Given the description of an element on the screen output the (x, y) to click on. 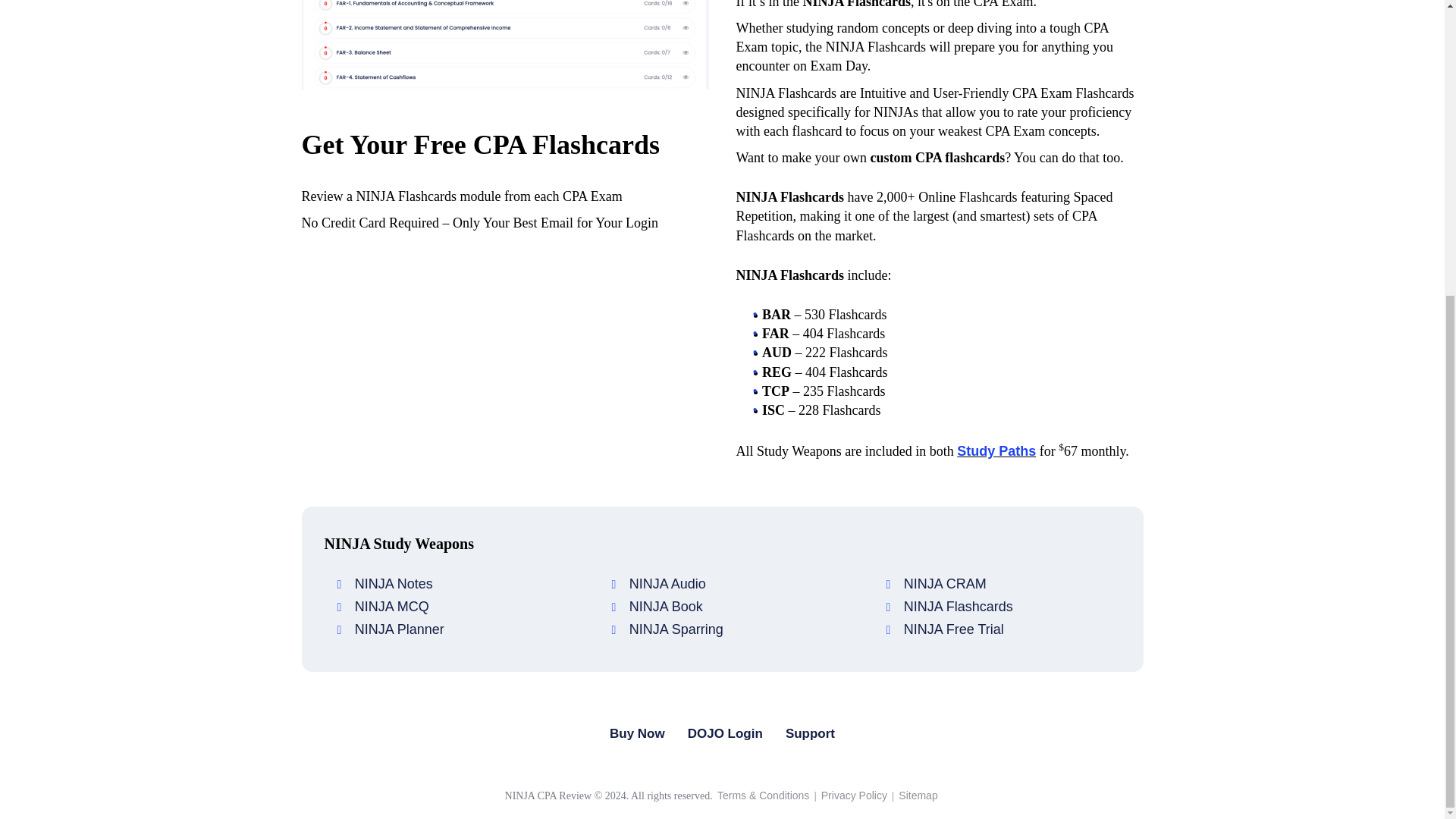
Support (810, 734)
NINJA Free Trial (951, 629)
NINJA Notes (391, 583)
NINJA Sparring (674, 629)
Privacy Policy (853, 795)
Study Paths (995, 450)
Sitemap (918, 795)
DOJO Login (724, 734)
NINJA Planner (397, 629)
NINJA CRAM (943, 583)
